Given the description of an element on the screen output the (x, y) to click on. 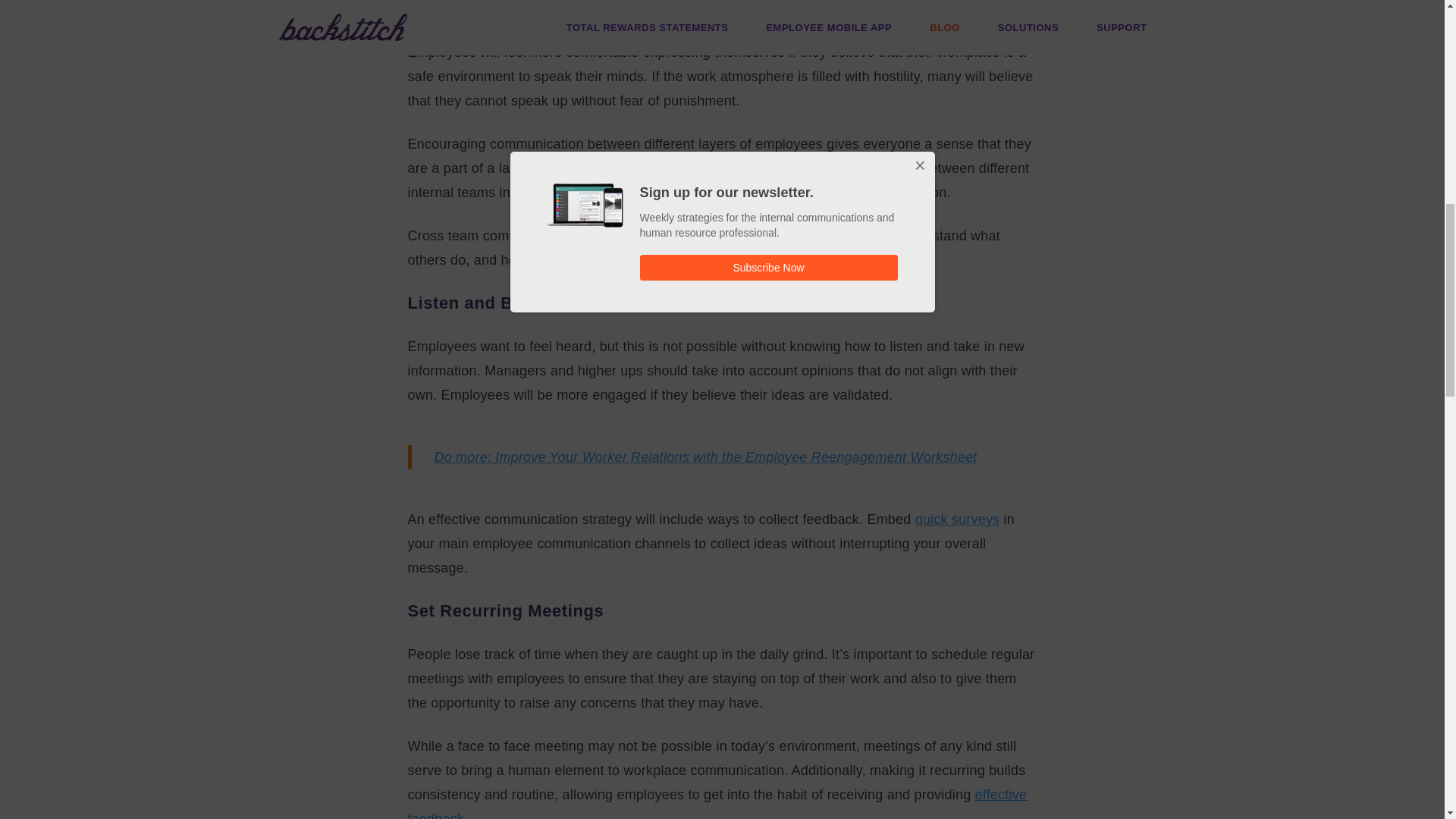
quick surveys (957, 519)
